Given the description of an element on the screen output the (x, y) to click on. 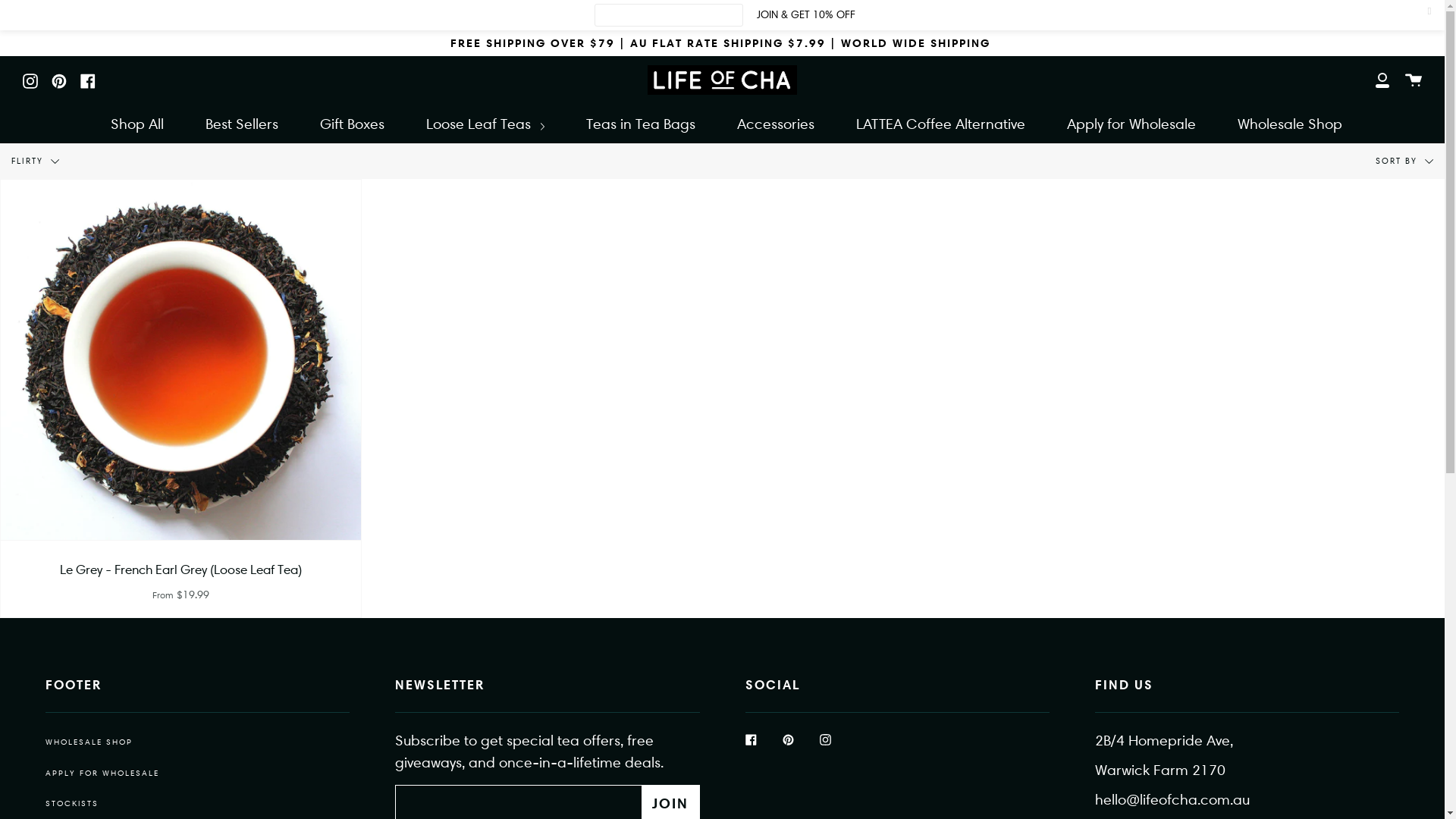
APPLY FOR WHOLESALE Element type: text (102, 772)
Facebook Element type: text (750, 737)
Pinterest Element type: text (787, 737)
FLIRTY Element type: text (35, 161)
Le Grey - French Earl Grey (Loose Leaf Tea)
From $19.99 Element type: text (180, 398)
SORT BY Element type: text (1403, 161)
Gift Boxes Element type: text (351, 123)
Wholesale Shop Element type: text (1289, 123)
STOCKISTS Element type: text (71, 802)
Apply for Wholesale Element type: text (1131, 123)
Accessories Element type: text (774, 123)
Teas in Tea Bags Element type: text (640, 123)
Facebook Element type: text (87, 78)
Best Sellers Element type: text (241, 123)
Cart Element type: text (1413, 79)
Shop All Element type: text (136, 123)
Instagram Element type: text (825, 737)
Pinterest Element type: text (58, 78)
Loose Leaf Teas Element type: text (484, 123)
hello@lifeofcha.com.au Element type: text (1172, 799)
WHOLESALE SHOP Element type: text (88, 741)
Instagram Element type: text (29, 78)
My Account Element type: text (1382, 79)
LATTEA Coffee Alternative Element type: text (940, 123)
